Given the description of an element on the screen output the (x, y) to click on. 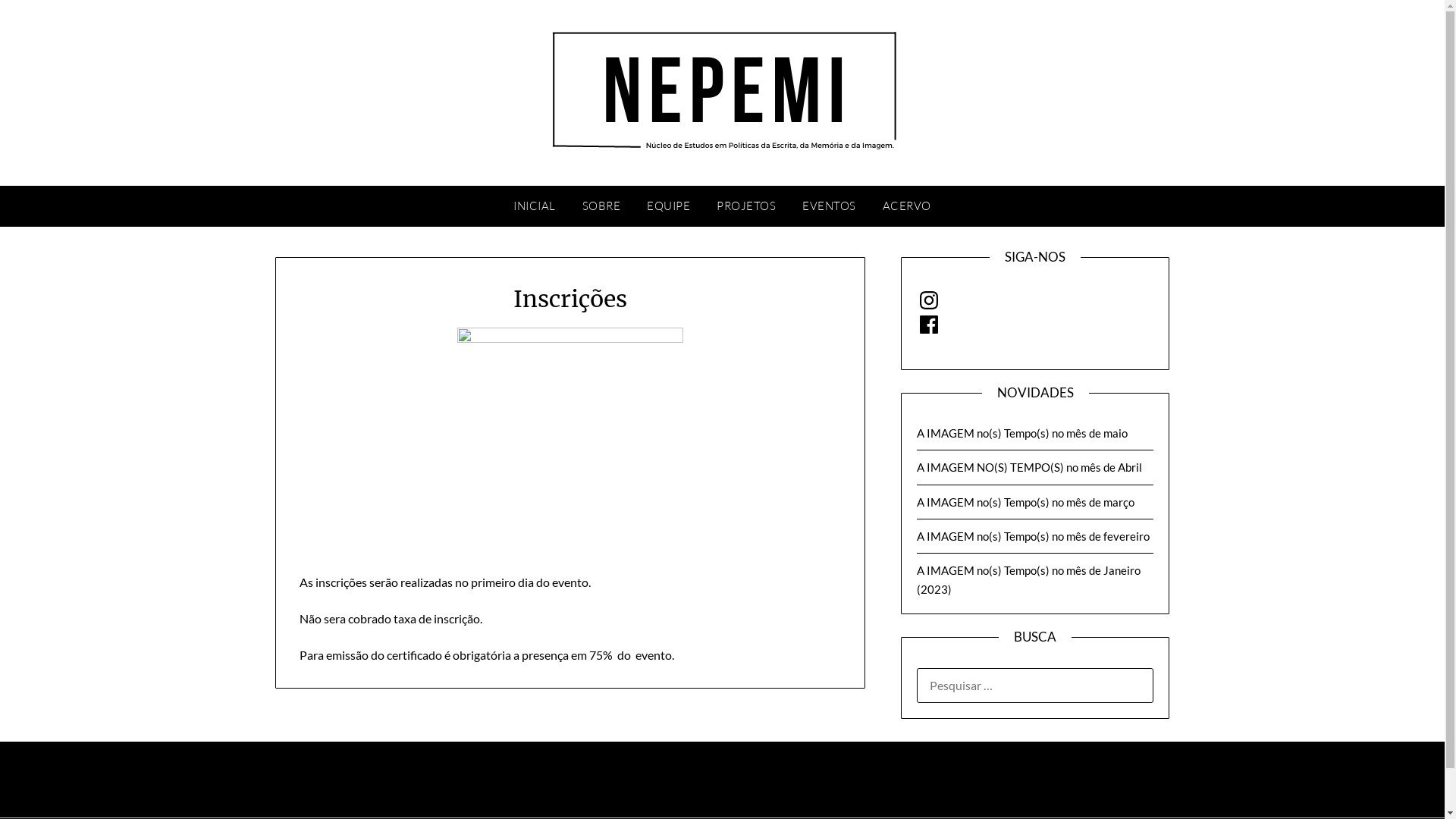
EQUIPE Element type: text (668, 205)
PROJETOS Element type: text (745, 205)
Facebook Element type: text (928, 324)
EVENTOS Element type: text (829, 205)
Instagram Element type: text (928, 300)
Pesquisar Element type: text (44, 21)
INICIAL Element type: text (534, 205)
Bailarinas Element type: hover (570, 441)
SOBRE Element type: text (601, 205)
ACERVO Element type: text (906, 205)
